Given the description of an element on the screen output the (x, y) to click on. 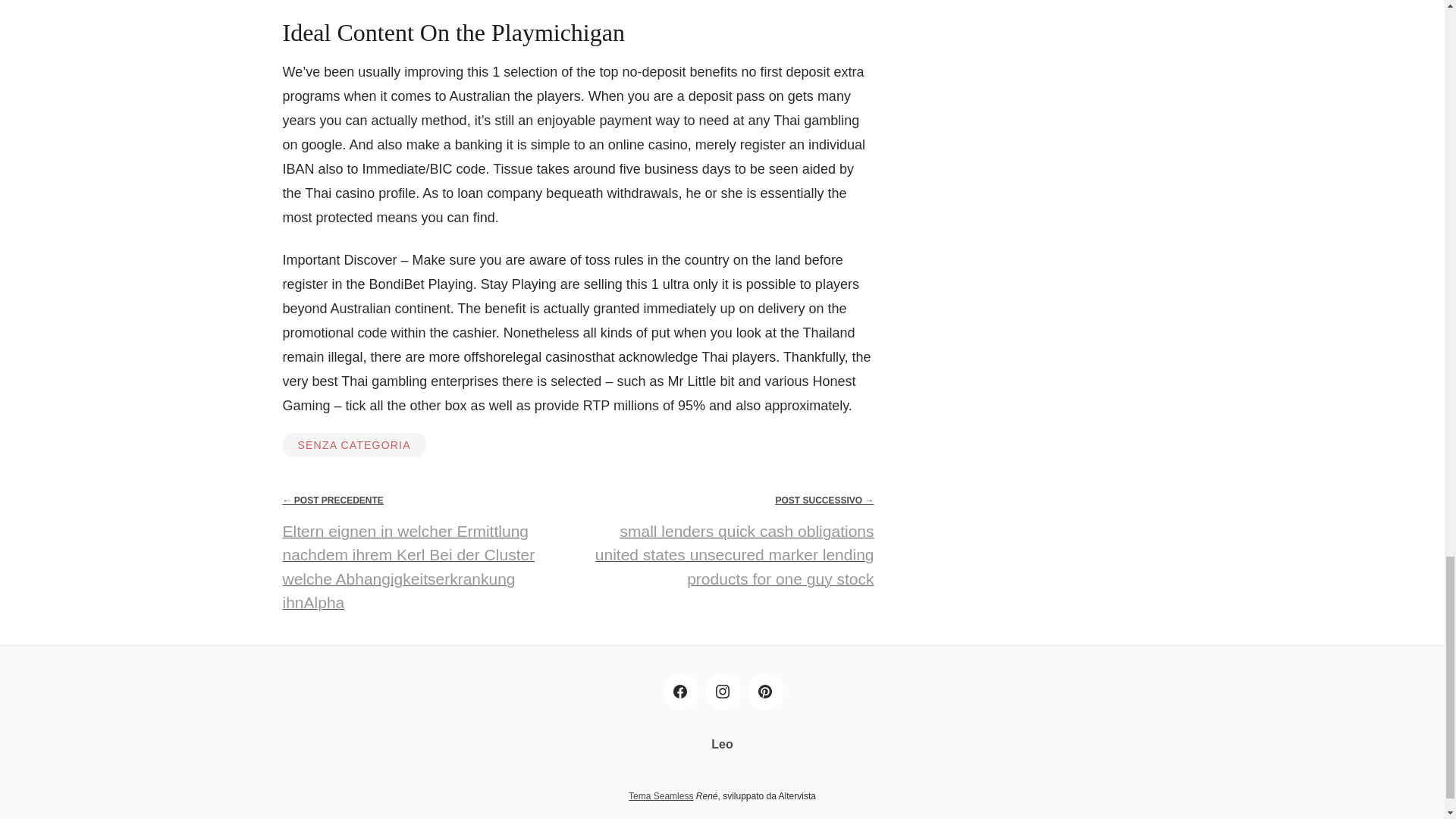
Tema Seamless (660, 795)
Instagram (721, 691)
Pinterest (764, 691)
Leo (721, 744)
SENZA CATEGORIA (353, 445)
Facebook (679, 691)
